Given the description of an element on the screen output the (x, y) to click on. 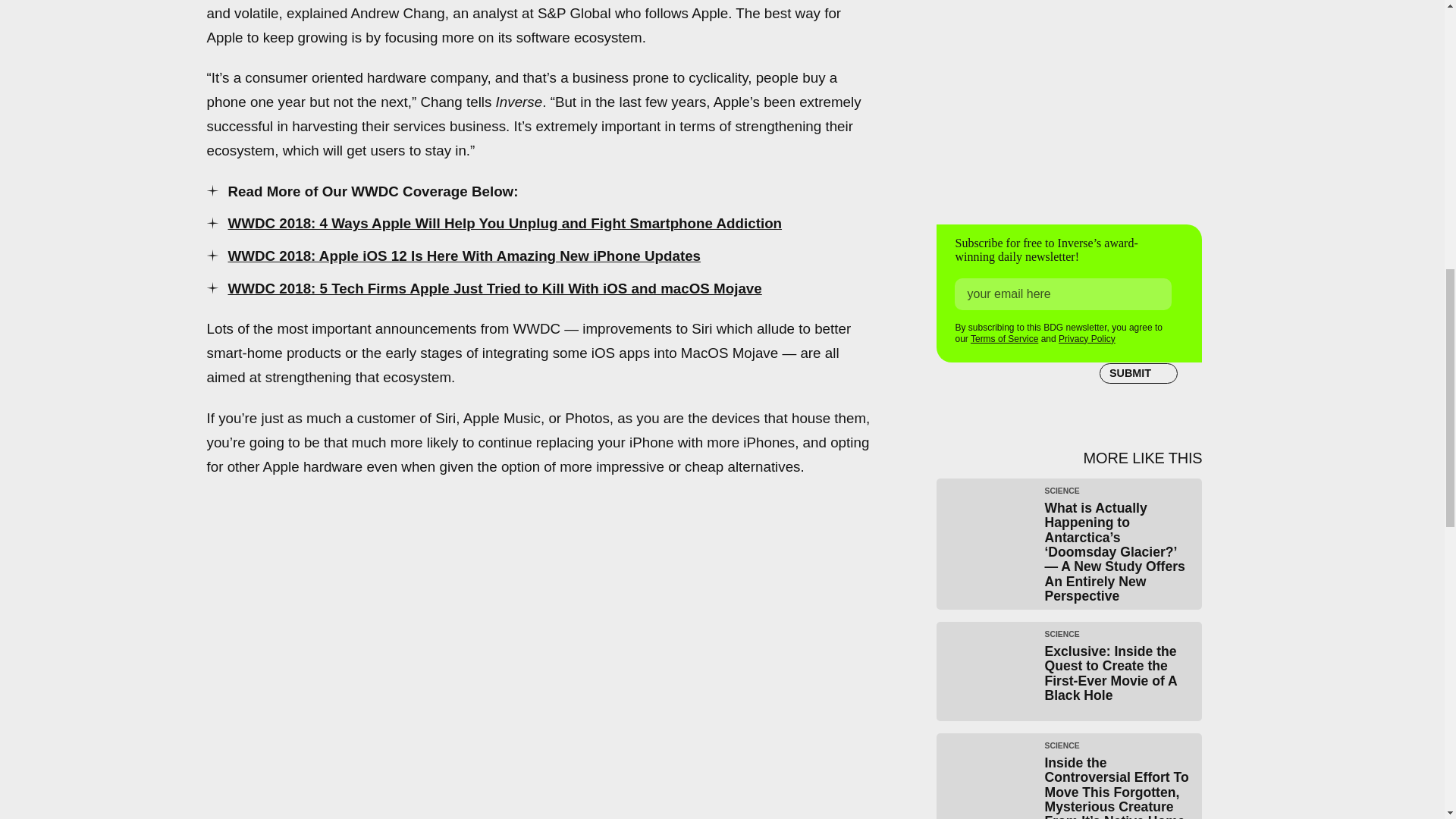
Privacy Policy (1086, 338)
Terms of Service (1004, 338)
SUBMIT (1138, 373)
